Given the description of an element on the screen output the (x, y) to click on. 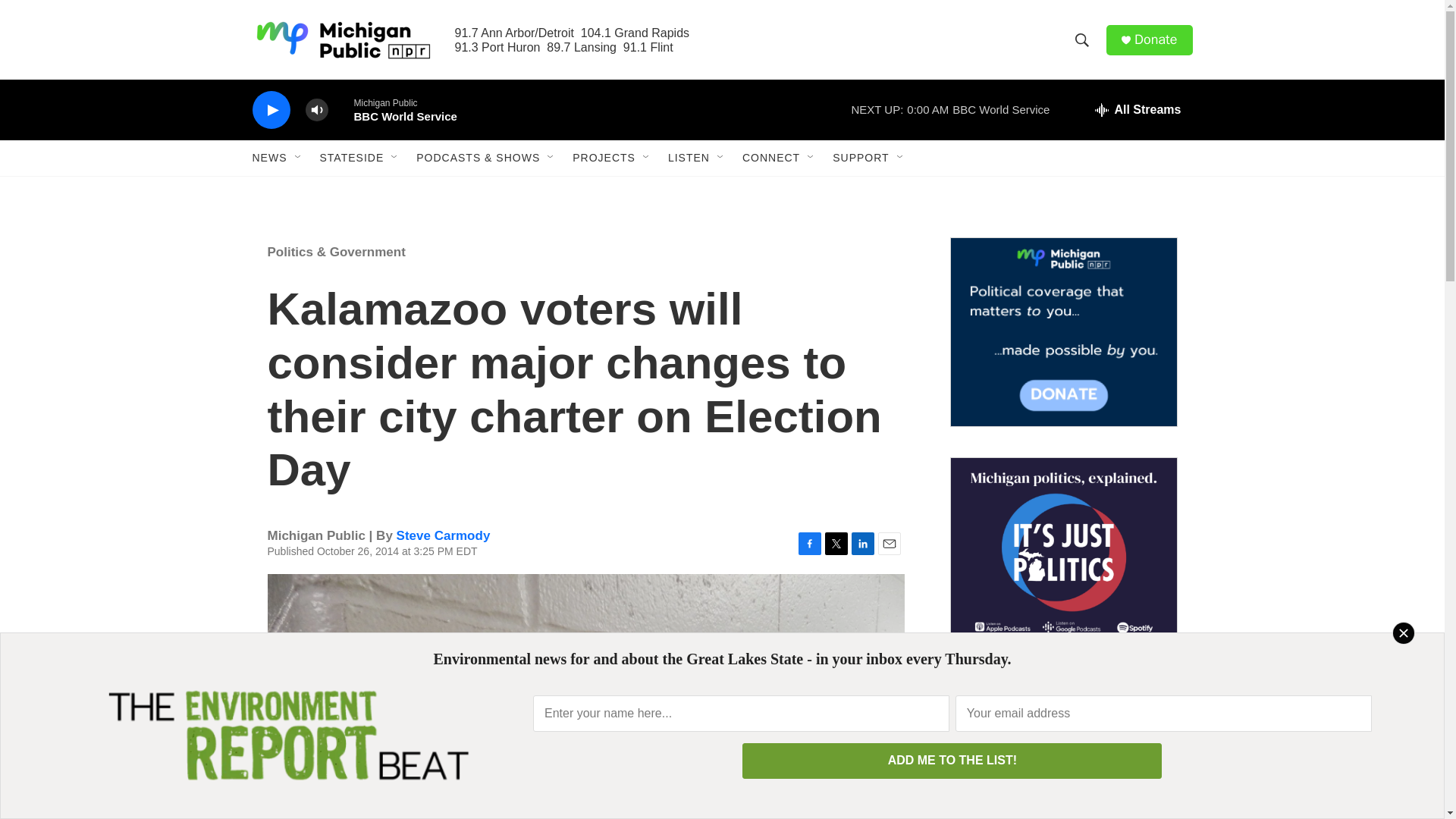
ADD ME TO THE LIST! (951, 760)
Close (1403, 632)
3rd party ad content (1062, 748)
